Given the description of an element on the screen output the (x, y) to click on. 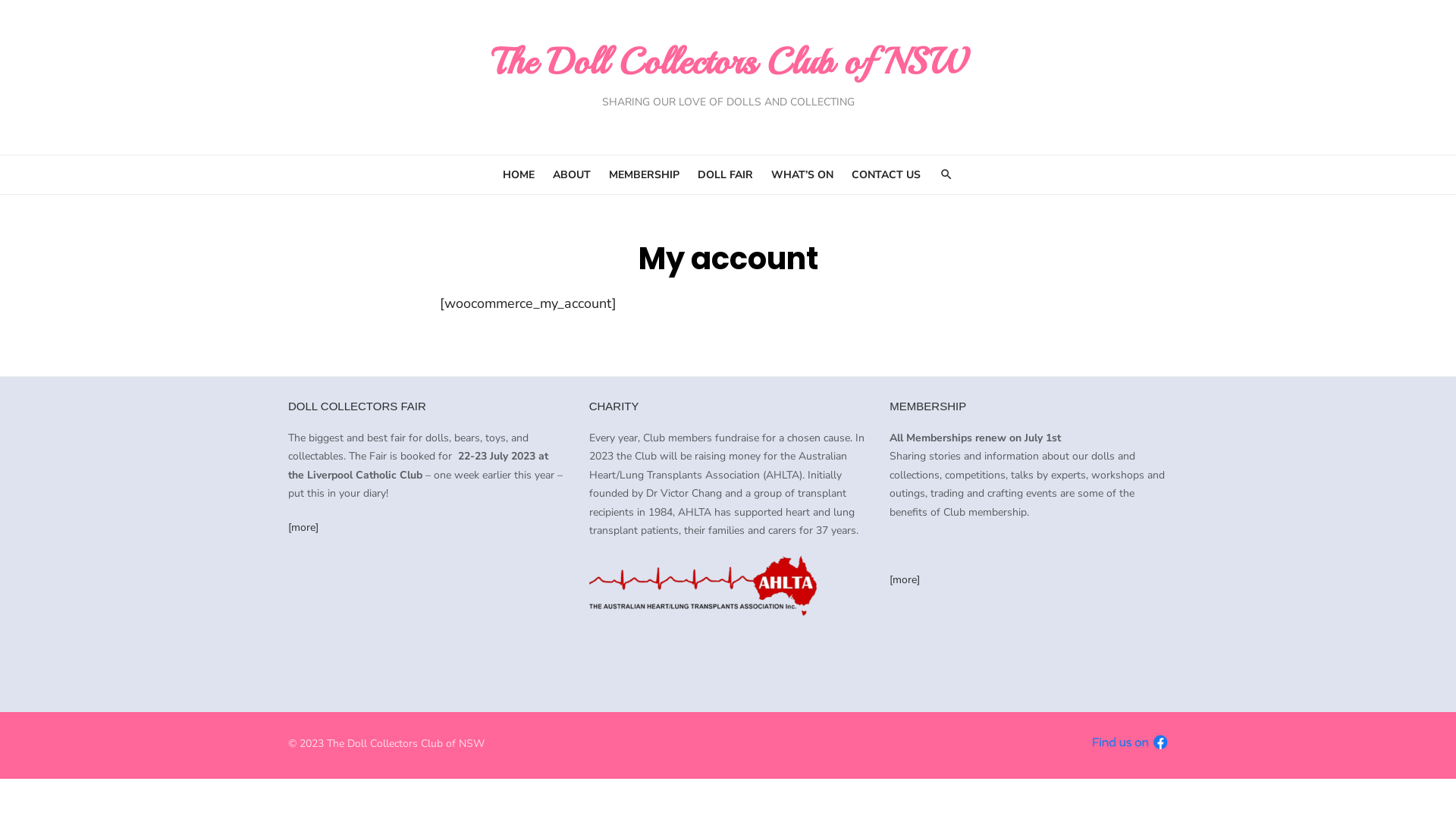
The Doll Collectors Club of NSW Element type: text (728, 61)
CONTACT US Element type: text (885, 175)
Skip to content Element type: text (0, 0)
DOLL FAIR Element type: text (725, 175)
ABOUT Element type: text (570, 175)
[more] Element type: text (303, 527)
HOME Element type: text (517, 175)
[more] Element type: text (904, 579)
MEMBERSHIP Element type: text (643, 175)
